Given the description of an element on the screen output the (x, y) to click on. 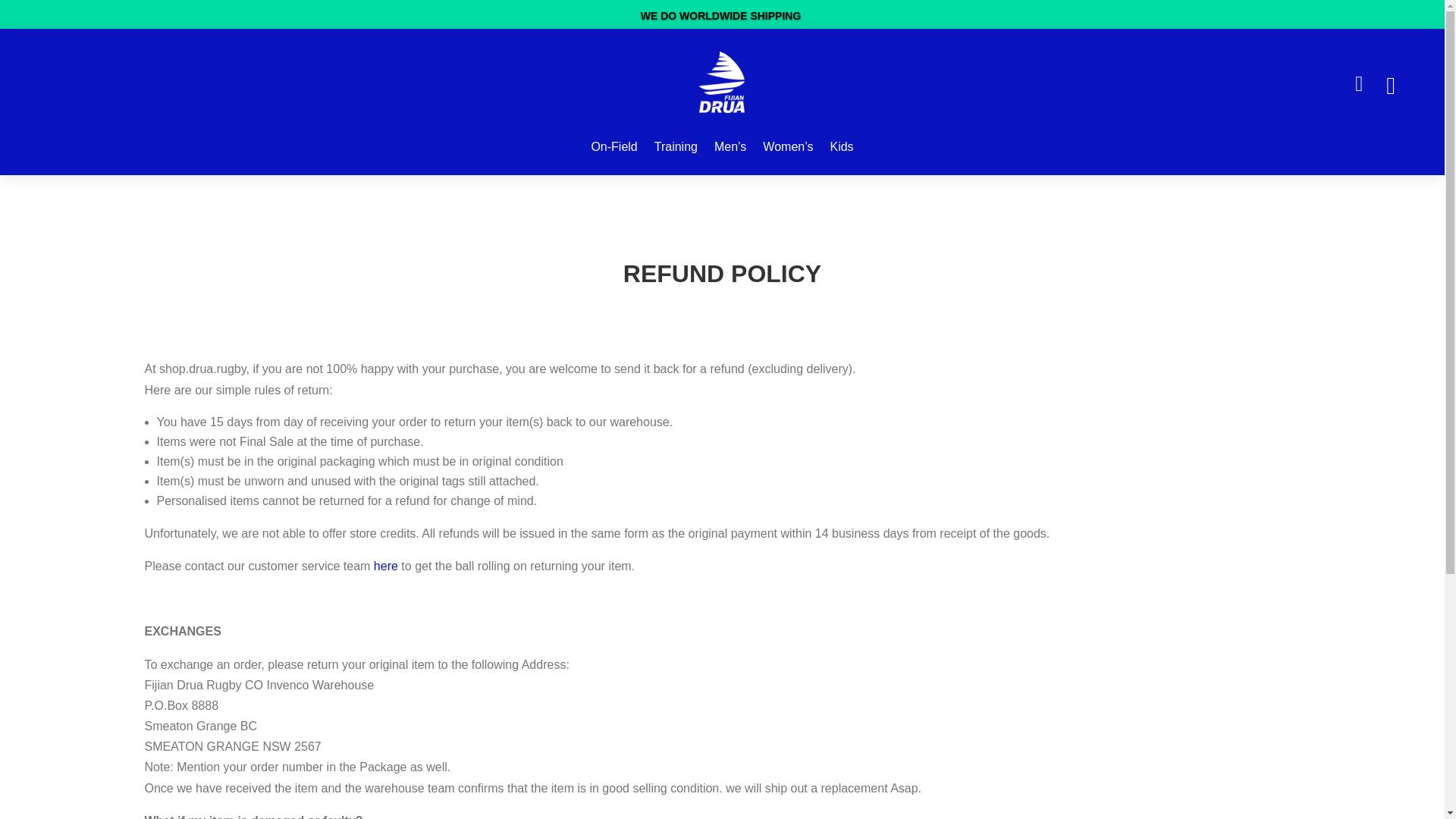
Contact Us Page (385, 565)
here (385, 565)
